Given the description of an element on the screen output the (x, y) to click on. 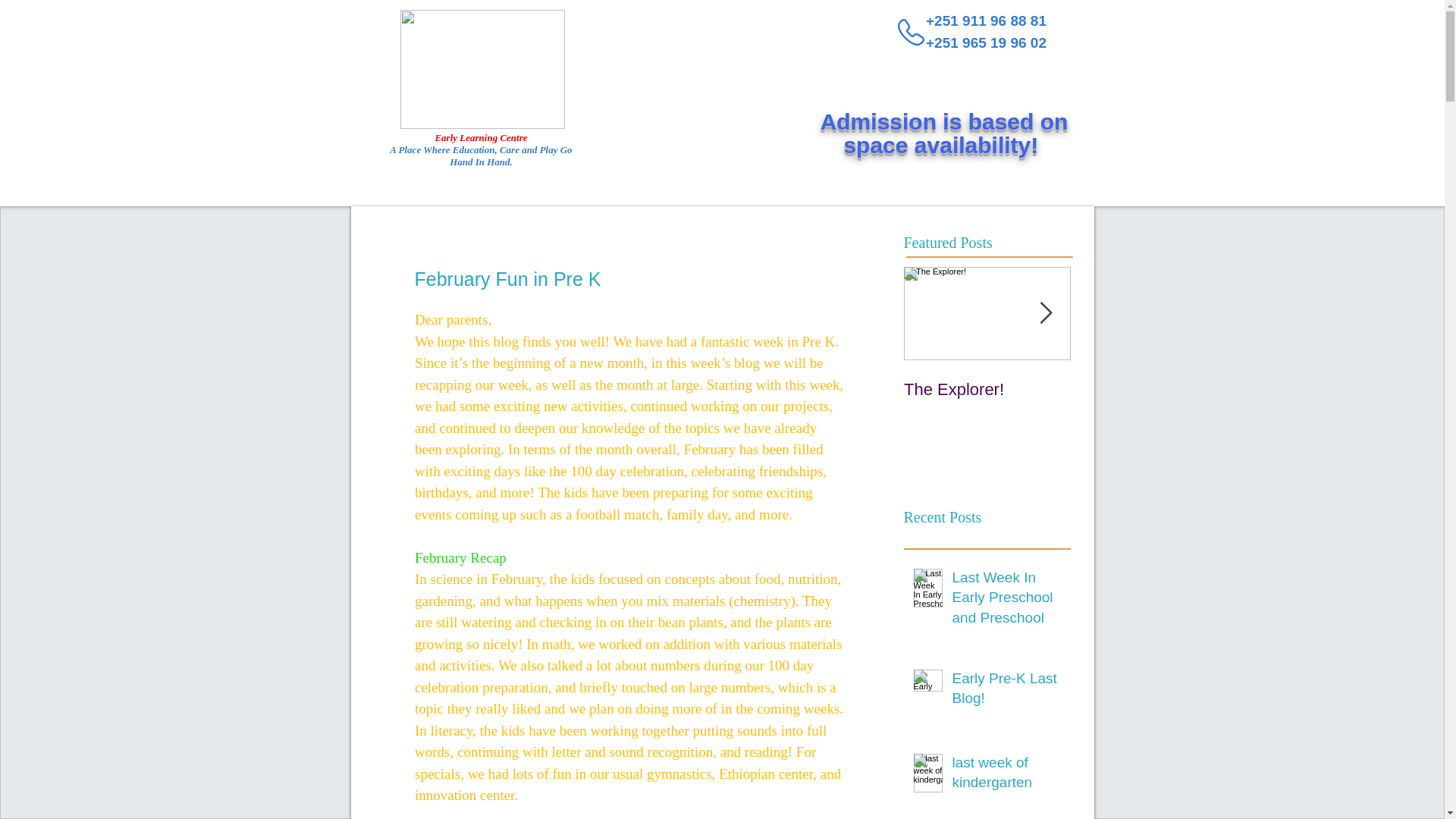
Early Pre-K Last Blog! (944, 135)
Last Week In Early Preschool and Preschool (1006, 691)
last week of kindergarten (1006, 601)
Prek and Kindergarten! (1006, 775)
The Explorer! (1153, 399)
Early pre-school (987, 389)
